Given the description of an element on the screen output the (x, y) to click on. 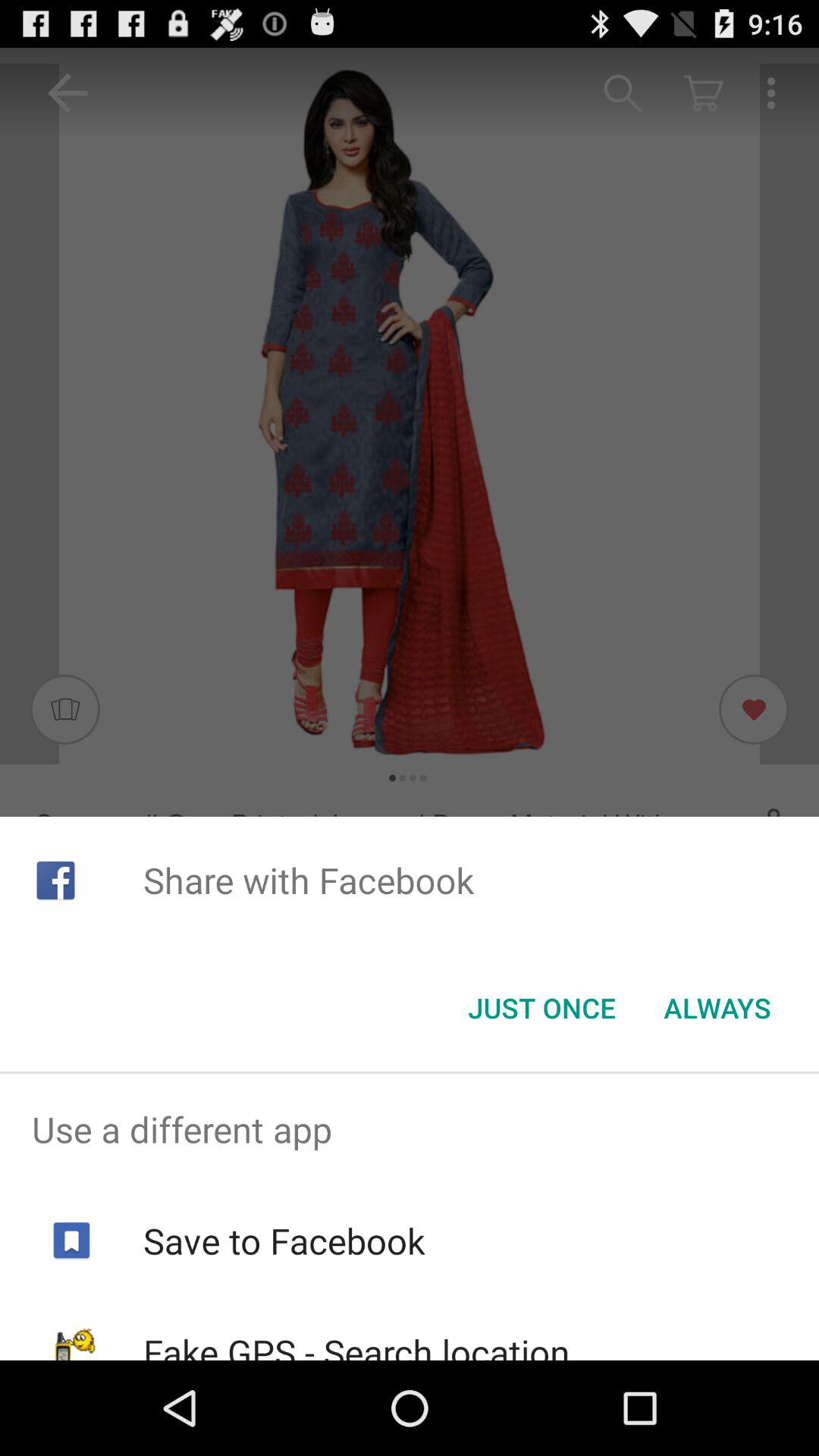
tap icon to the right of just once item (717, 1007)
